Given the description of an element on the screen output the (x, y) to click on. 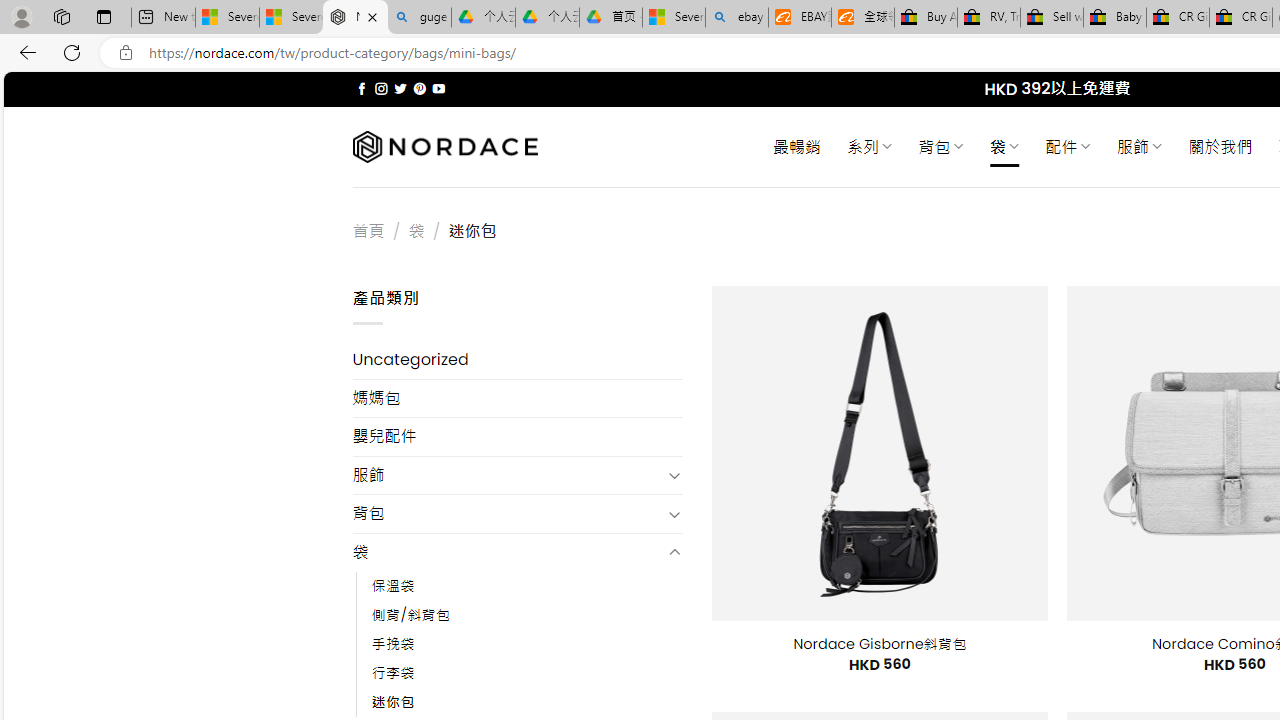
Follow on Pinterest (419, 88)
guge yunpan - Search (418, 17)
